Given the description of an element on the screen output the (x, y) to click on. 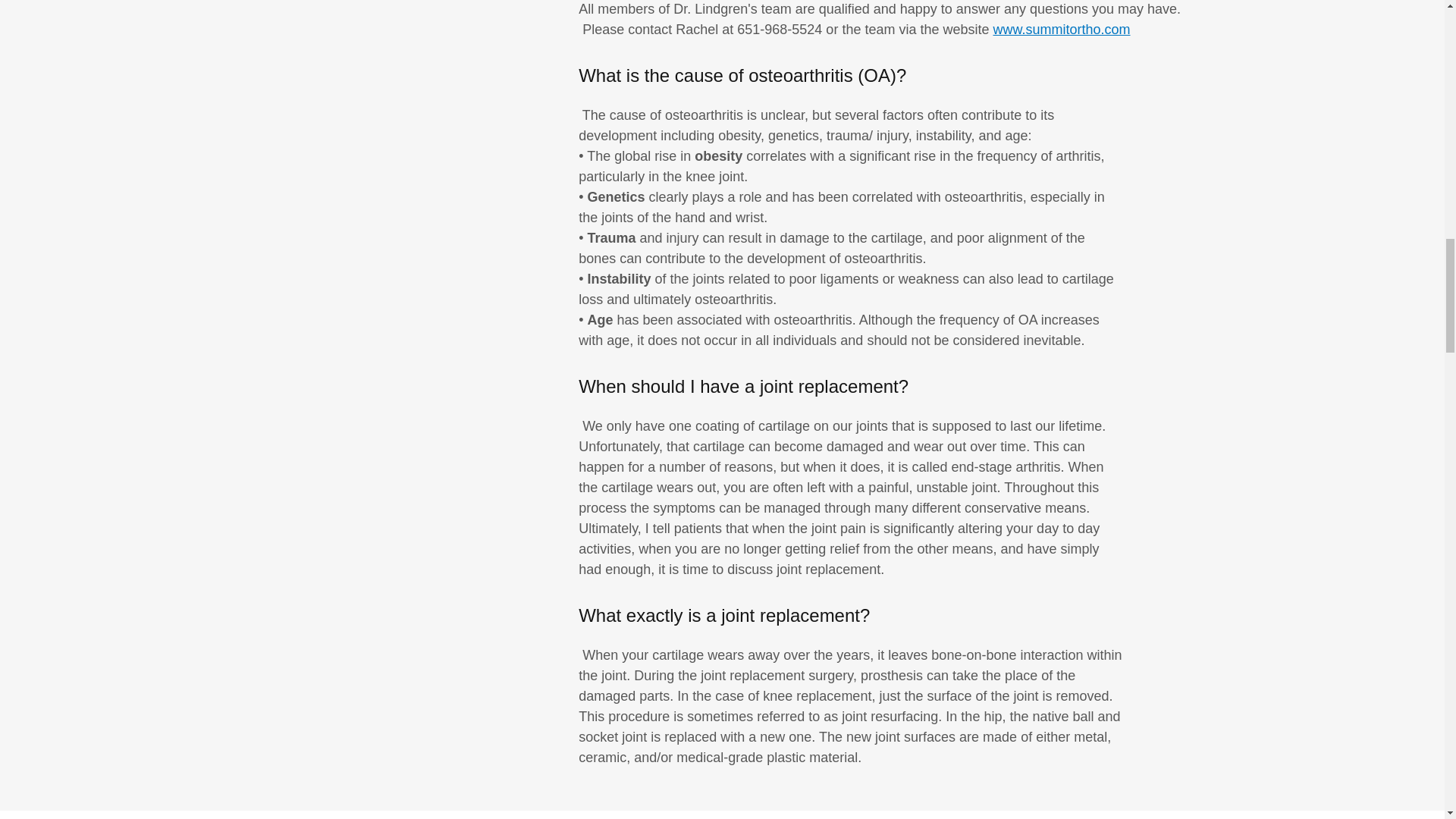
www.summitortho.com (1060, 29)
